Given the description of an element on the screen output the (x, y) to click on. 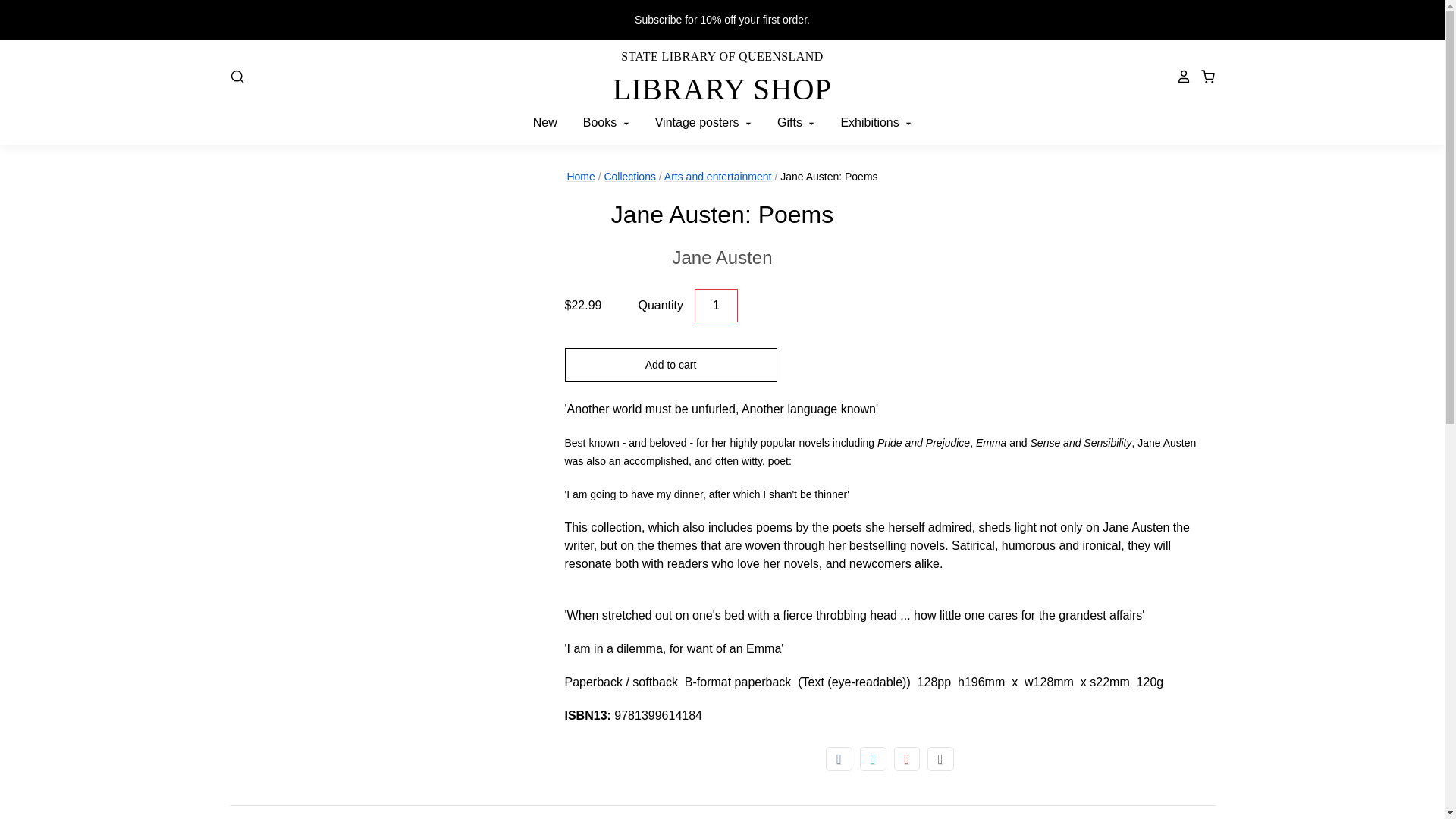
Add to cart (670, 364)
1 (715, 305)
